Given the description of an element on the screen output the (x, y) to click on. 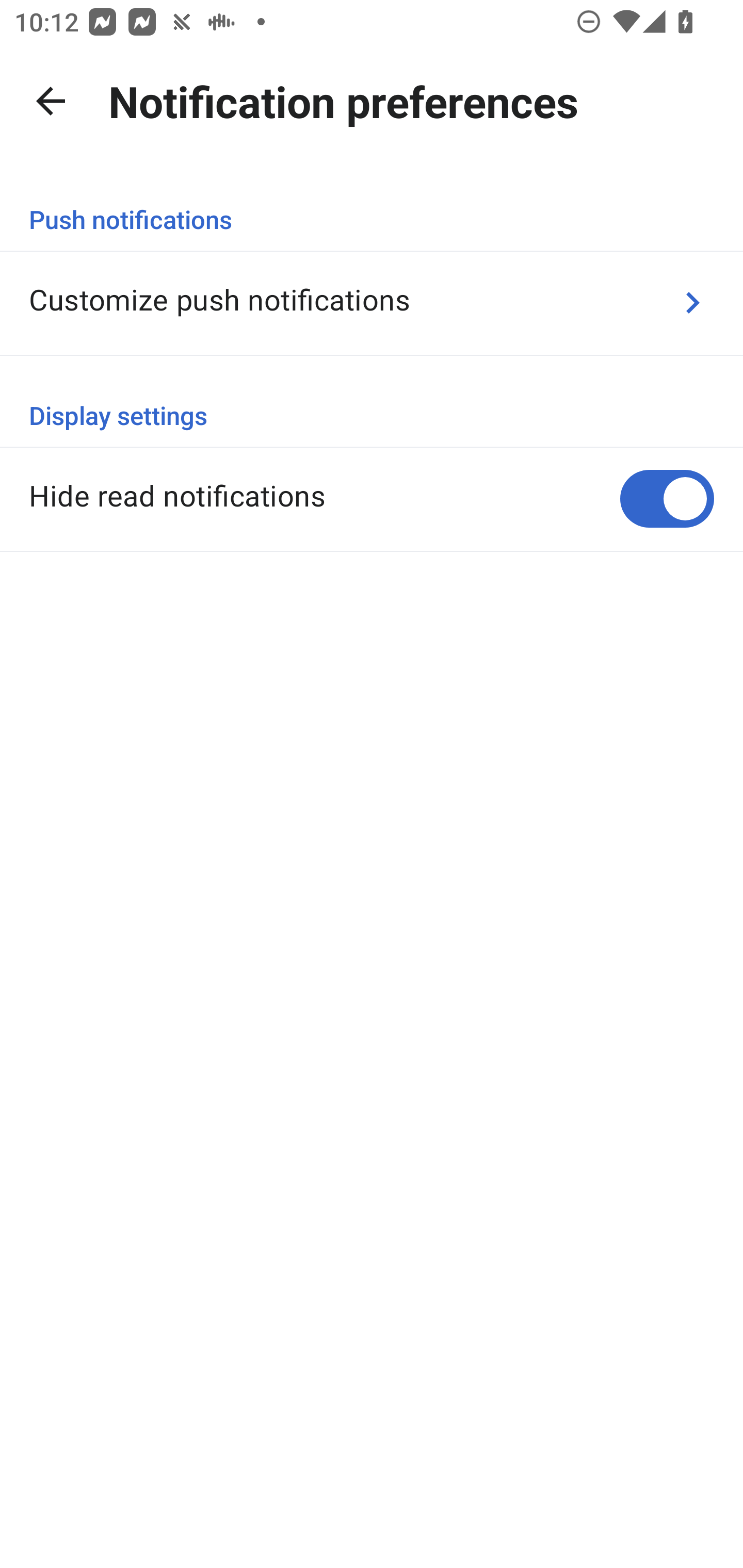
Navigate up (50, 101)
Customize push notifications (371, 302)
Hide read notifications (371, 498)
